Given the description of an element on the screen output the (x, y) to click on. 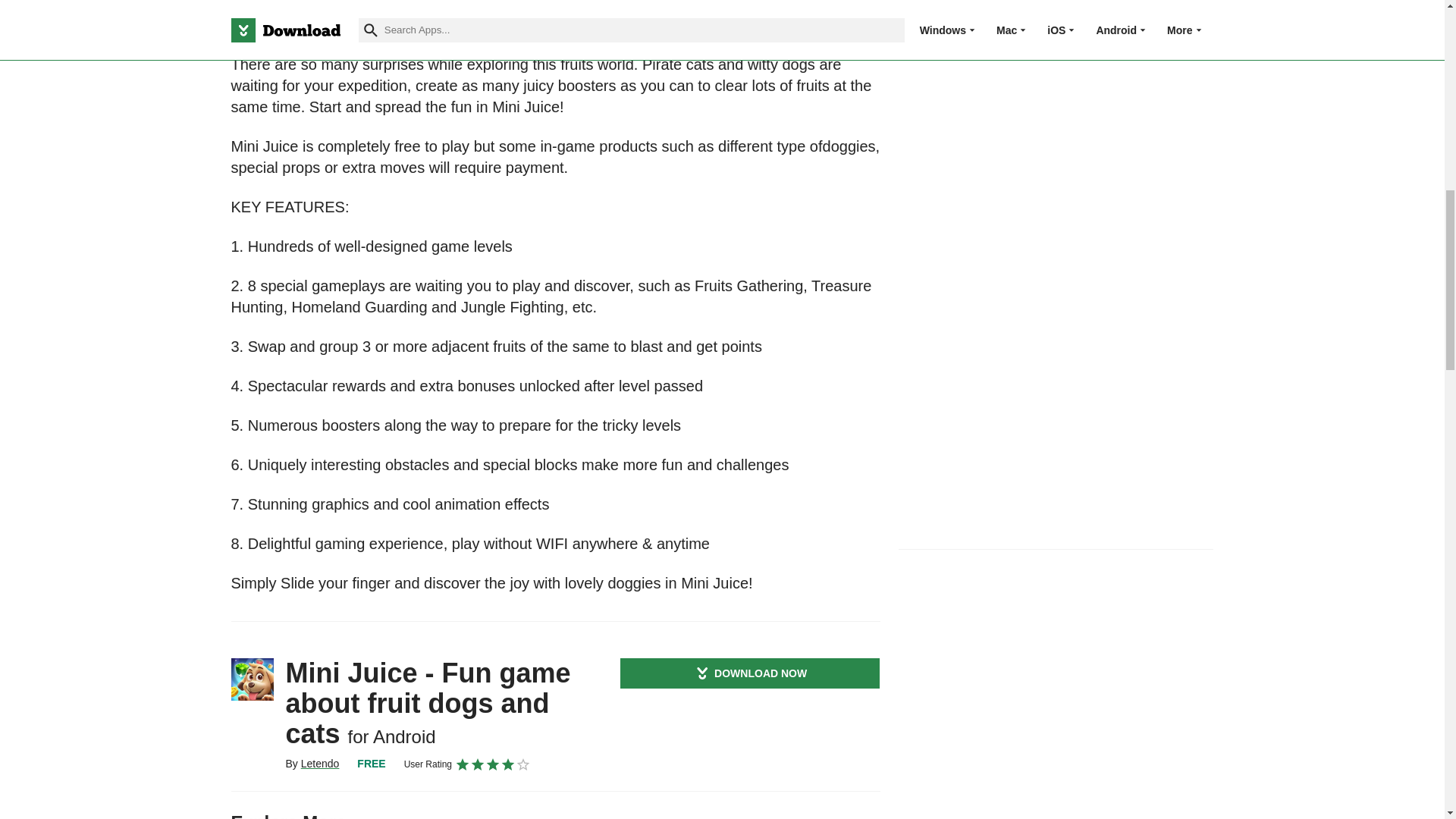
Mini Juice - Fun game about fruit dogs and cats for Android (251, 679)
